Given the description of an element on the screen output the (x, y) to click on. 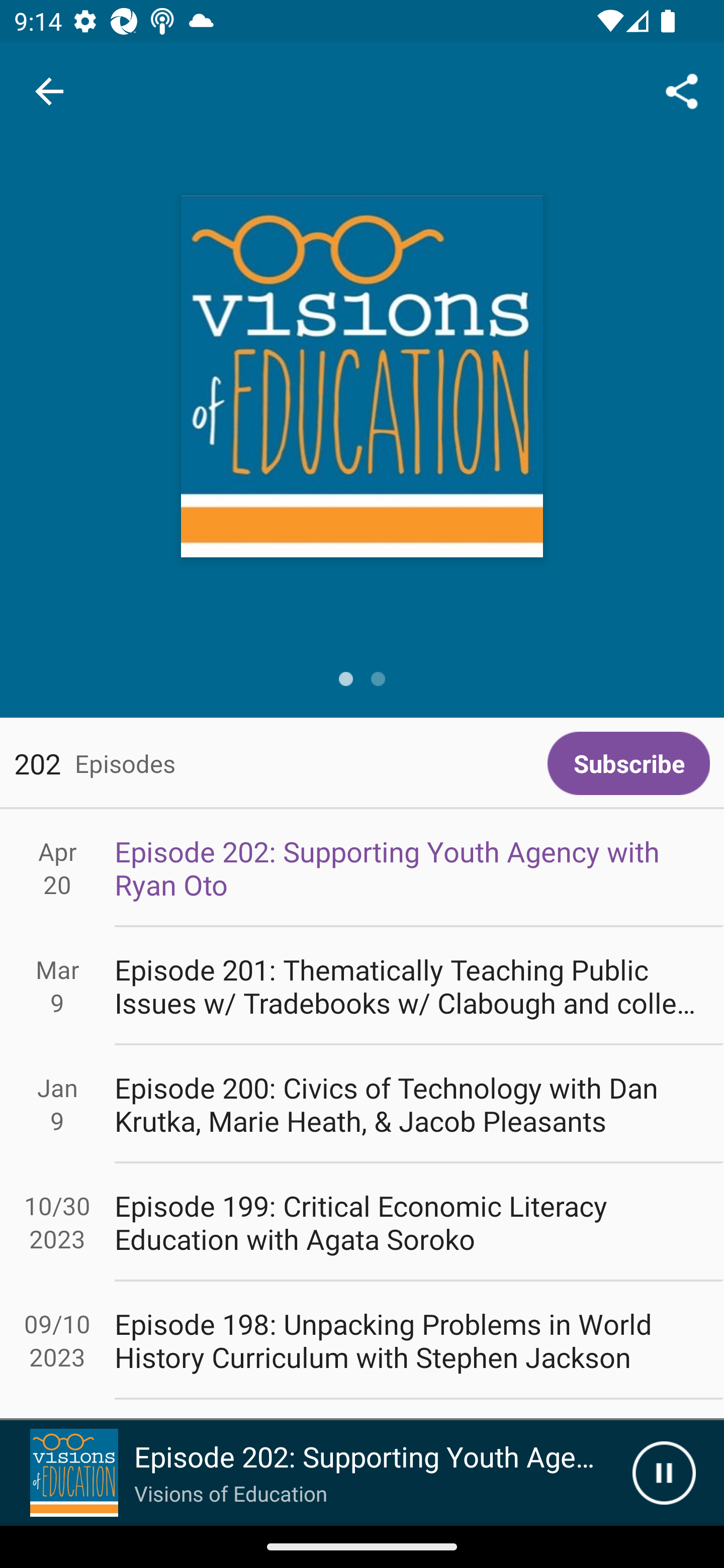
Navigate up (49, 91)
Share... (681, 90)
Subscribe (628, 763)
Pause (663, 1472)
